Given the description of an element on the screen output the (x, y) to click on. 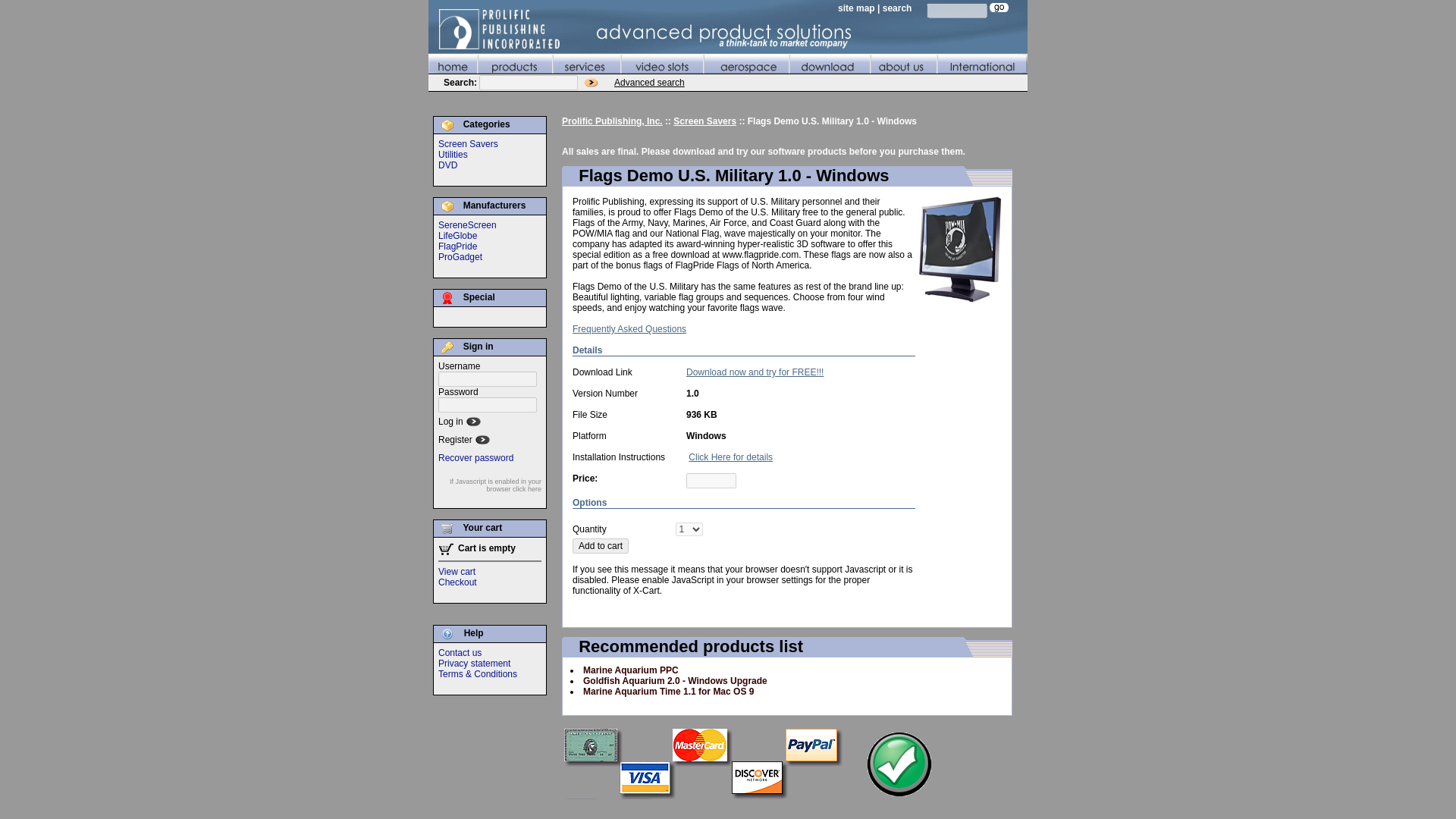
site map (856, 8)
Marine Aquarium Time 1.1 for Mac OS 9 (668, 691)
Add to cart (600, 545)
Utilities (452, 154)
Prolific Publishing, Inc. (612, 121)
Privacy statement (474, 663)
View cart (457, 571)
Enter text to search for and click 'GO' (956, 10)
Goldfish Aquarium 2.0 - Windows Upgrade (675, 680)
LifeGlobe (457, 235)
